Given the description of an element on the screen output the (x, y) to click on. 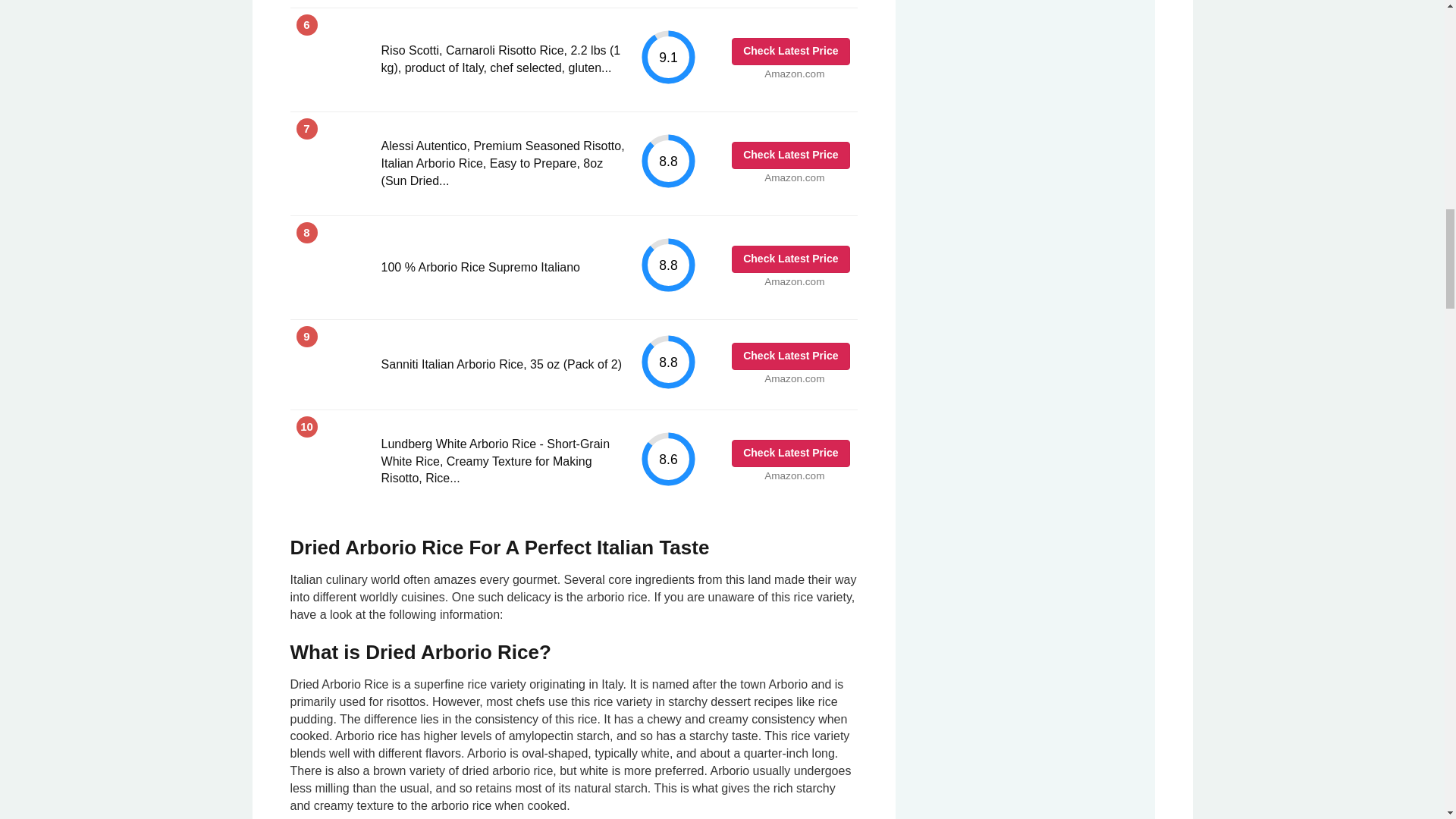
8.8 (668, 264)
8.8 (668, 361)
8.8 (668, 160)
8.6 (668, 458)
9.1 (668, 56)
